Given the description of an element on the screen output the (x, y) to click on. 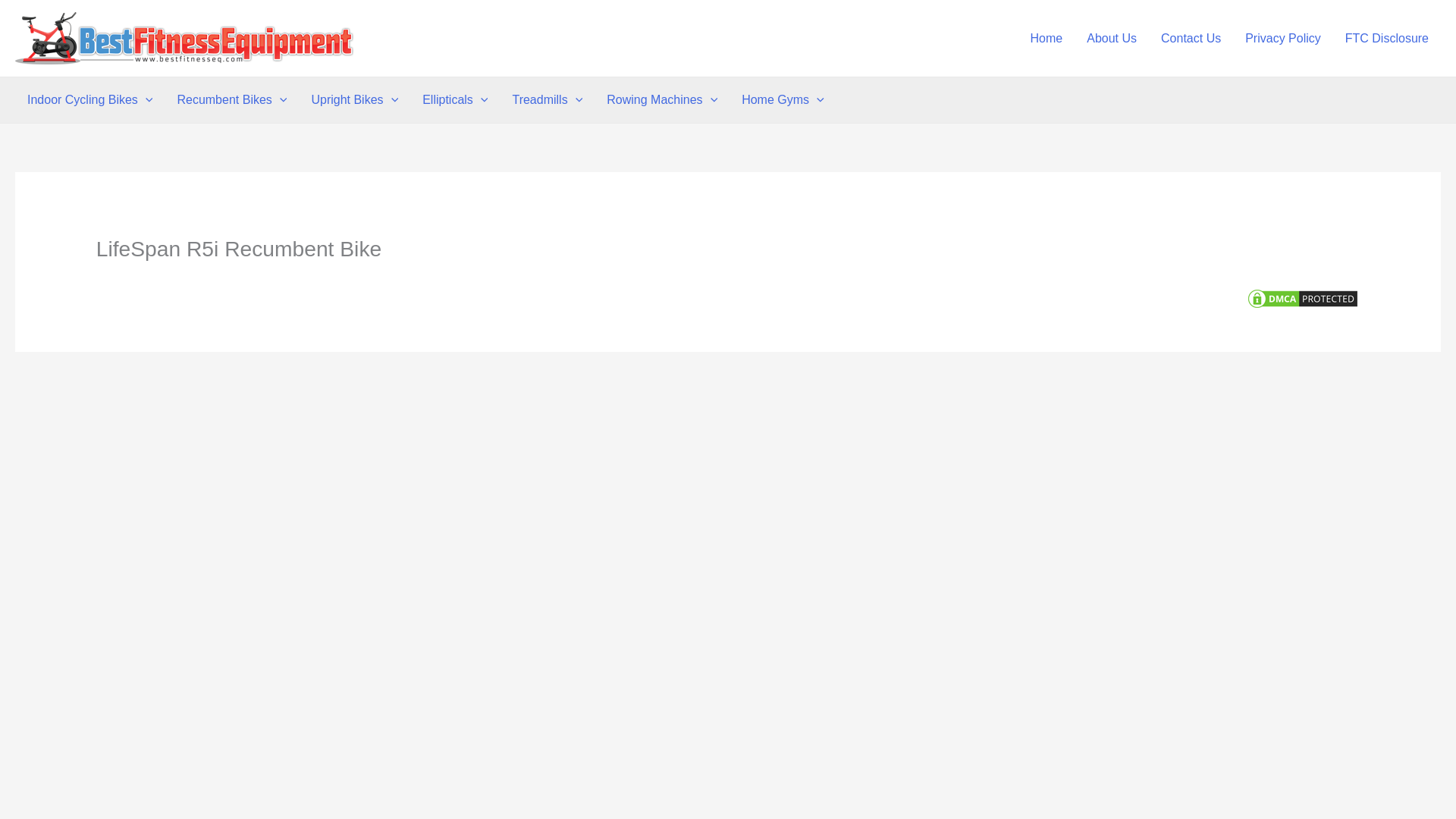
Recumbent Bikes (231, 99)
Treadmills (546, 99)
Indoor Cycling Bikes (89, 99)
Content Protection by DMCA.com (1302, 297)
About Us (1111, 38)
FTC Disclosure (1387, 38)
Rowing Machines (661, 99)
Contact Us (1190, 38)
Privacy Policy (1283, 38)
Home (1046, 38)
Upright Bikes (354, 99)
Ellipticals (454, 99)
Home Gyms (782, 99)
